Given the description of an element on the screen output the (x, y) to click on. 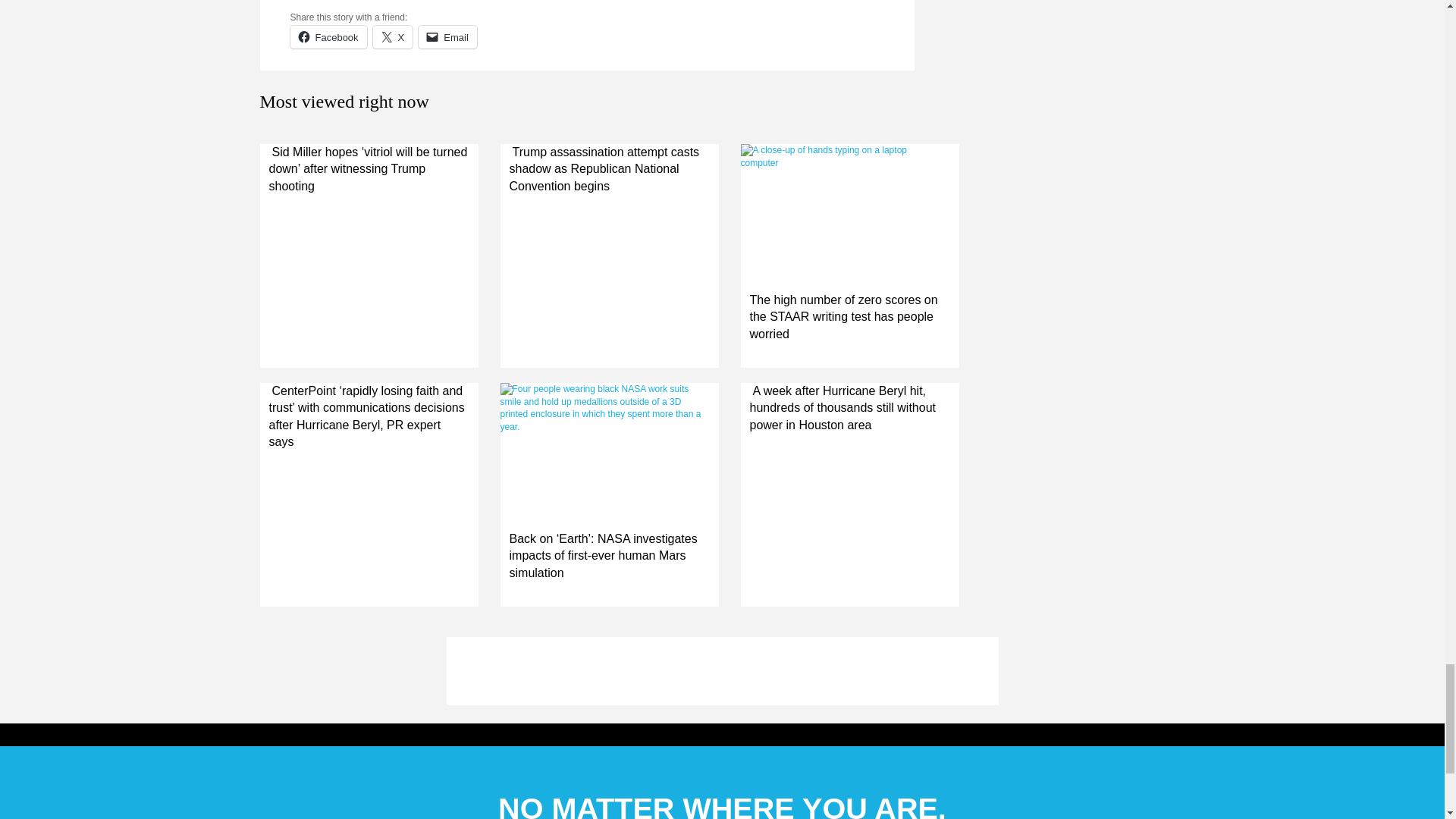
3rd party ad content (721, 671)
Click to email a link to a friend (448, 36)
Click to share on X (392, 36)
Click to share on Facebook (327, 36)
